Given the description of an element on the screen output the (x, y) to click on. 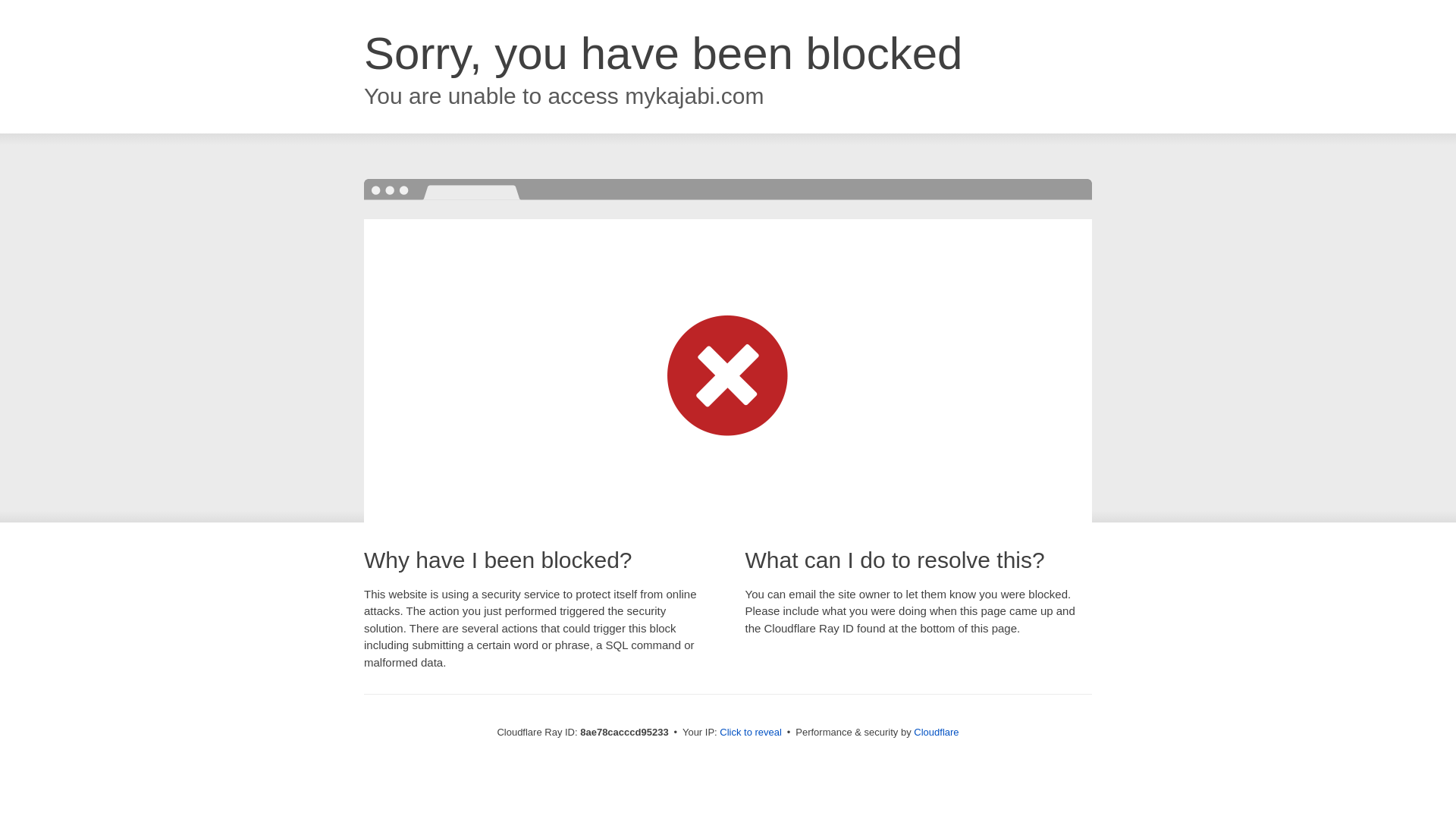
Cloudflare (936, 731)
Click to reveal (750, 732)
